Given the description of an element on the screen output the (x, y) to click on. 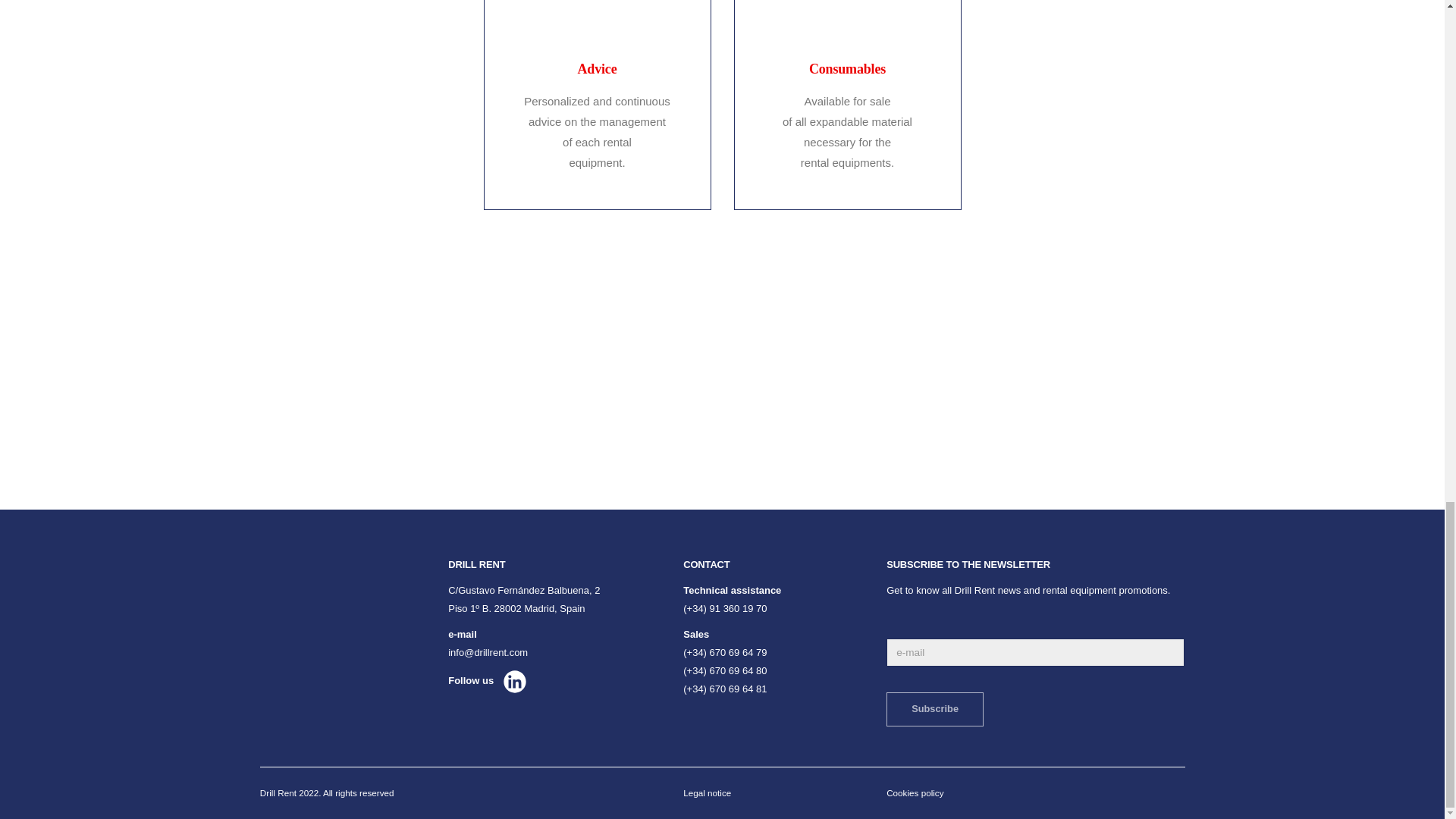
asesoramiento (846, 9)
AMK (368, 372)
fungibles (596, 9)
Cookies policy (914, 792)
Legal notice (706, 792)
Subscribe (935, 708)
FRASTE (1074, 372)
DOOSAN (839, 372)
CLIVIO (604, 372)
Subscribe (935, 708)
